Given the description of an element on the screen output the (x, y) to click on. 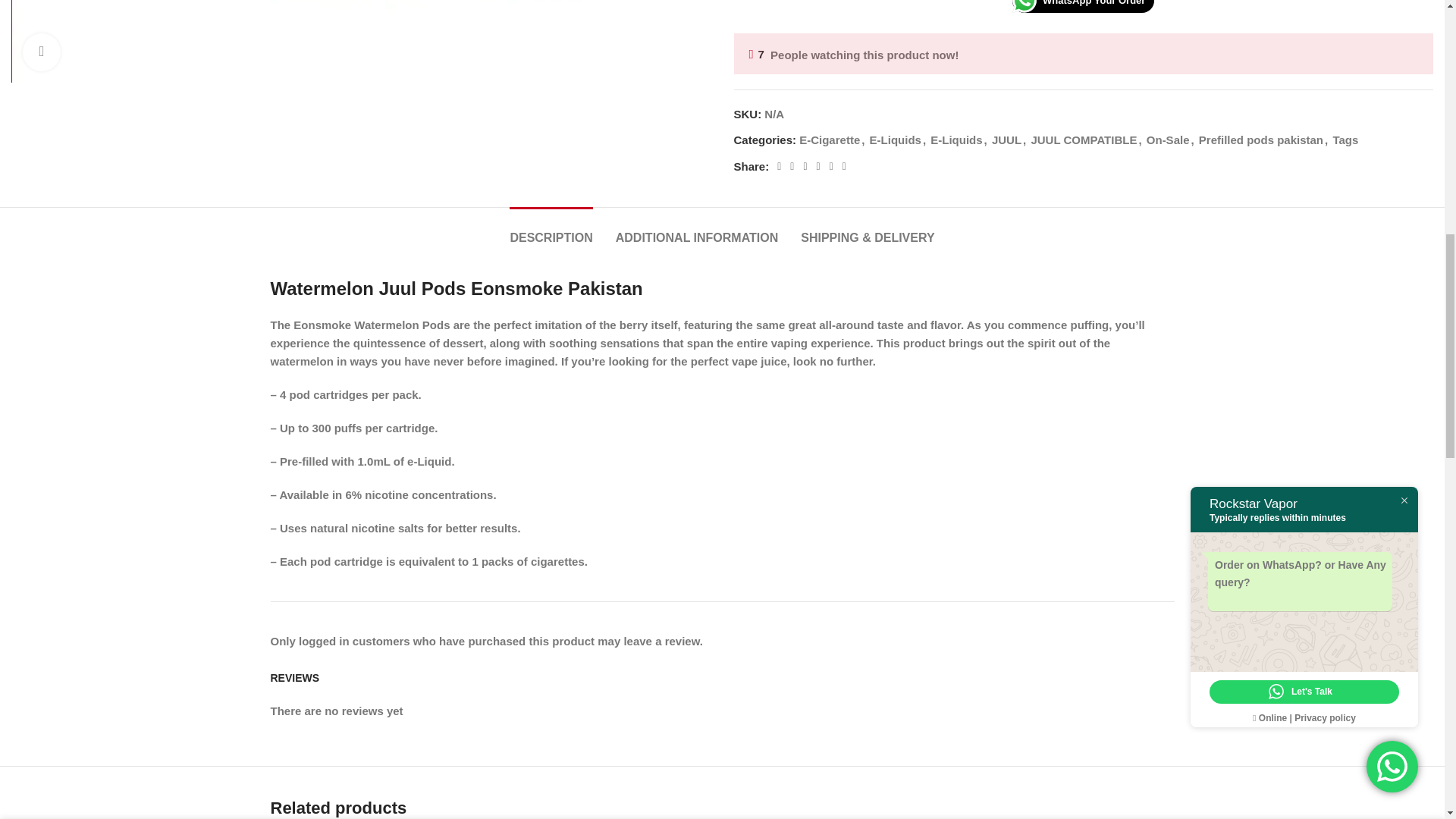
Watermelon-1.jpg (361, 41)
